Given the description of an element on the screen output the (x, y) to click on. 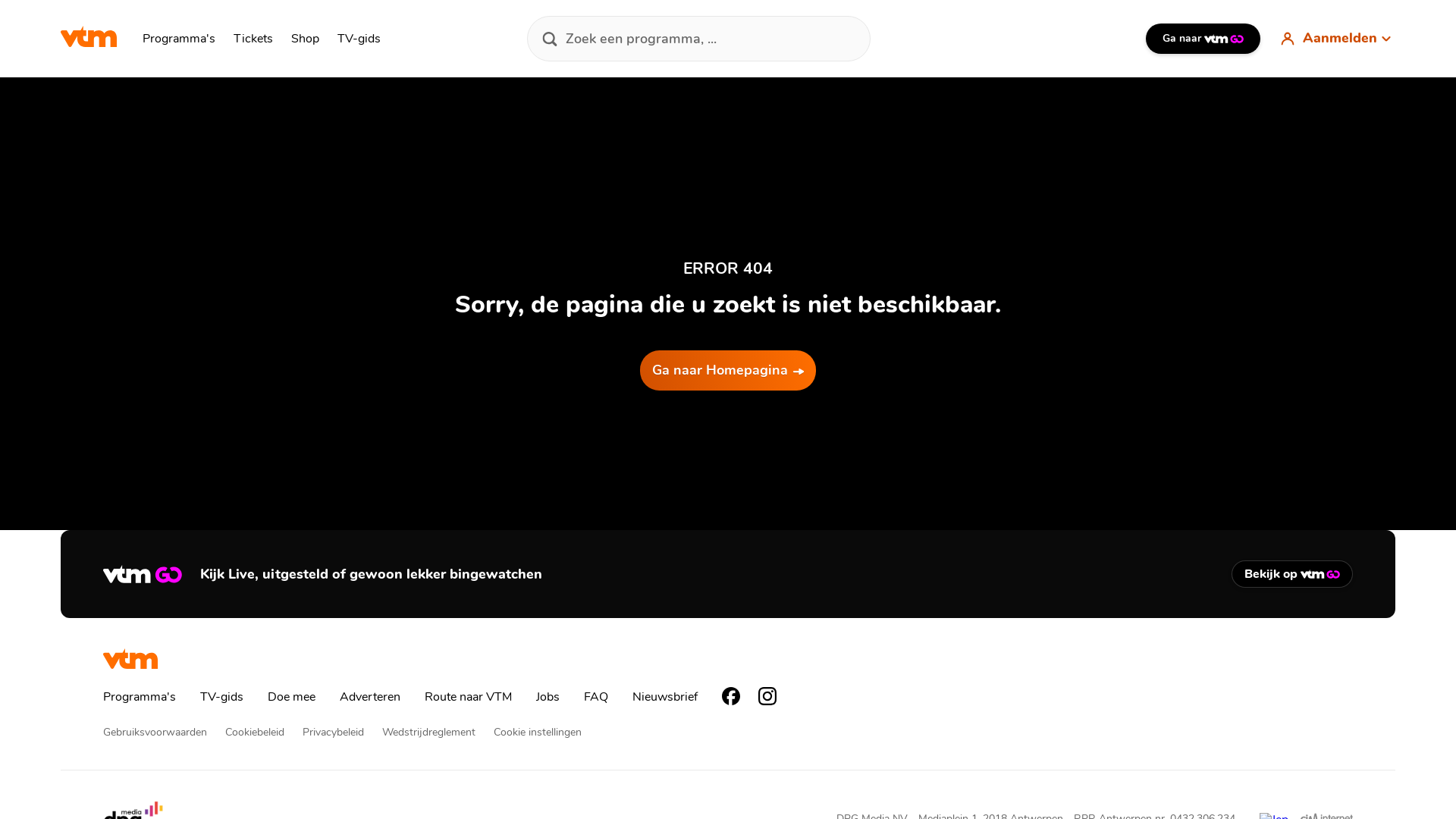
Privacybeleid Element type: text (333, 731)
FAQ Element type: text (595, 696)
Wedstrijdreglement Element type: text (428, 731)
Nieuwsbrief Element type: text (664, 696)
Jobs Element type: text (547, 696)
Route naar VTM Element type: text (467, 696)
Programma's Element type: text (178, 38)
Tickets Element type: text (253, 38)
Gebruiksvoorwaarden Element type: text (155, 731)
Bekijk op Element type: text (1291, 573)
Programma's Element type: text (139, 696)
TV-gids Element type: text (221, 696)
Ga naar Element type: text (1202, 38)
Ga naar Homepagina Element type: text (728, 370)
Cookie instellingen Element type: text (537, 731)
Adverteren Element type: text (369, 696)
Doe mee Element type: text (291, 696)
TV-gids Element type: text (358, 38)
Cookiebeleid Element type: text (254, 731)
Shop Element type: text (305, 38)
